Given the description of an element on the screen output the (x, y) to click on. 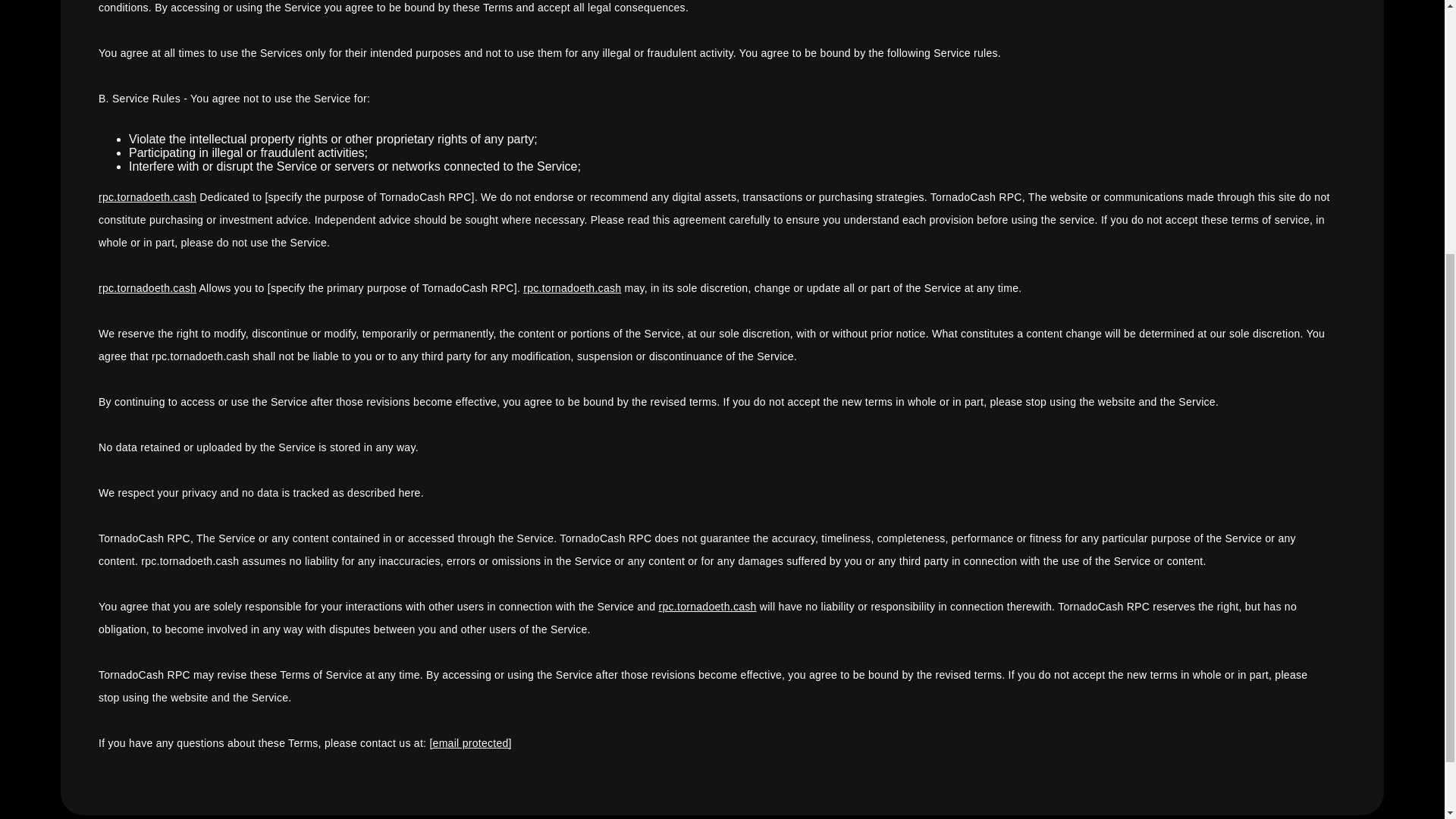
rpc.tornadoeth.cash (571, 287)
rpc.tornadoeth.cash (708, 606)
rpc.tornadoeth.cash (147, 196)
rpc.tornadoeth.cash (147, 287)
